Given the description of an element on the screen output the (x, y) to click on. 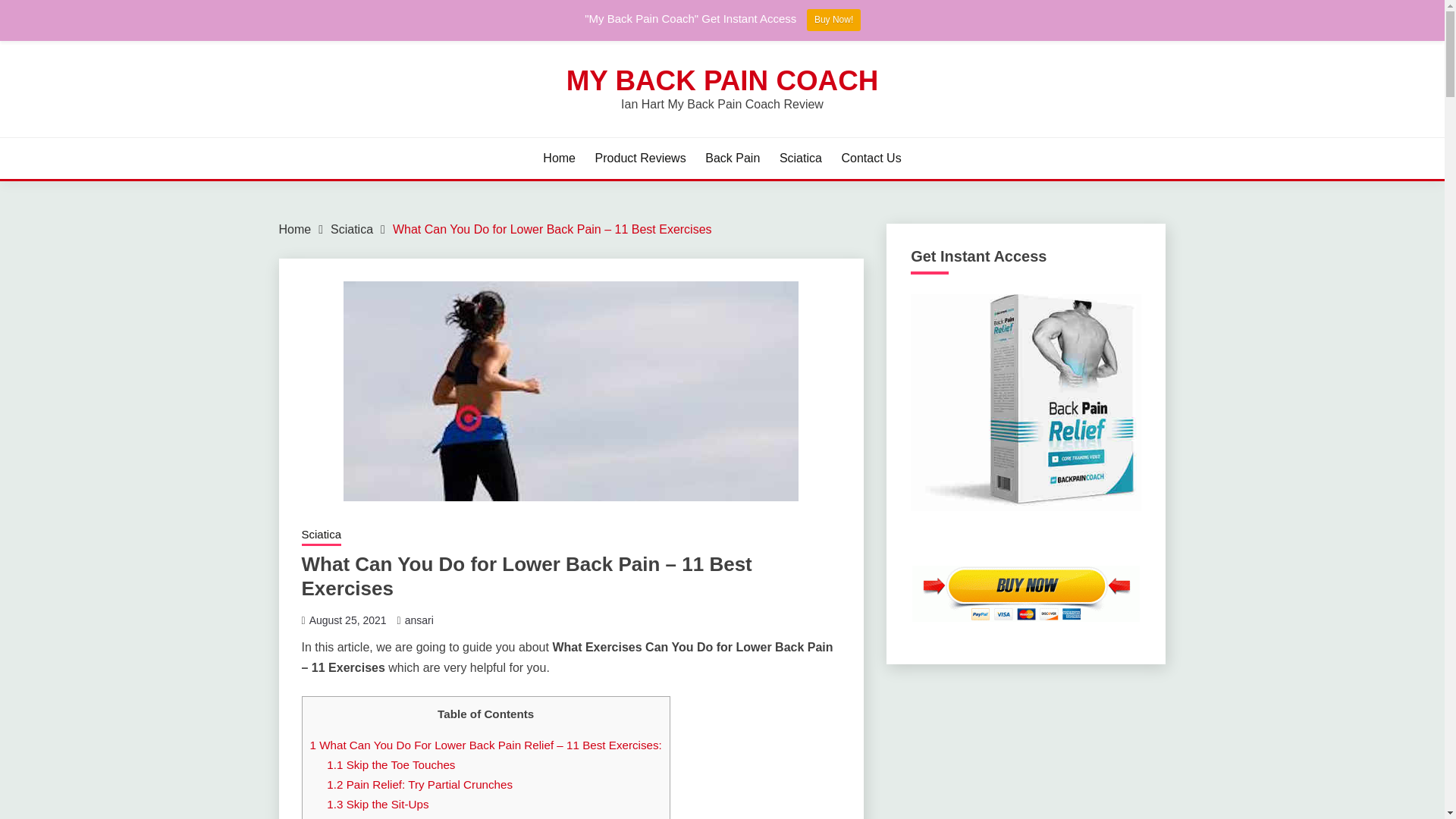
Sciatica (351, 228)
1.3 Skip the Sit-Ups (377, 803)
Home (559, 158)
Sciatica (800, 158)
Contact Us (871, 158)
Product Reviews (640, 158)
MY BACK PAIN COACH (722, 80)
ansari (418, 620)
1.2 Pain Relief: Try Partial Crunches (419, 784)
Home (295, 228)
